Given the description of an element on the screen output the (x, y) to click on. 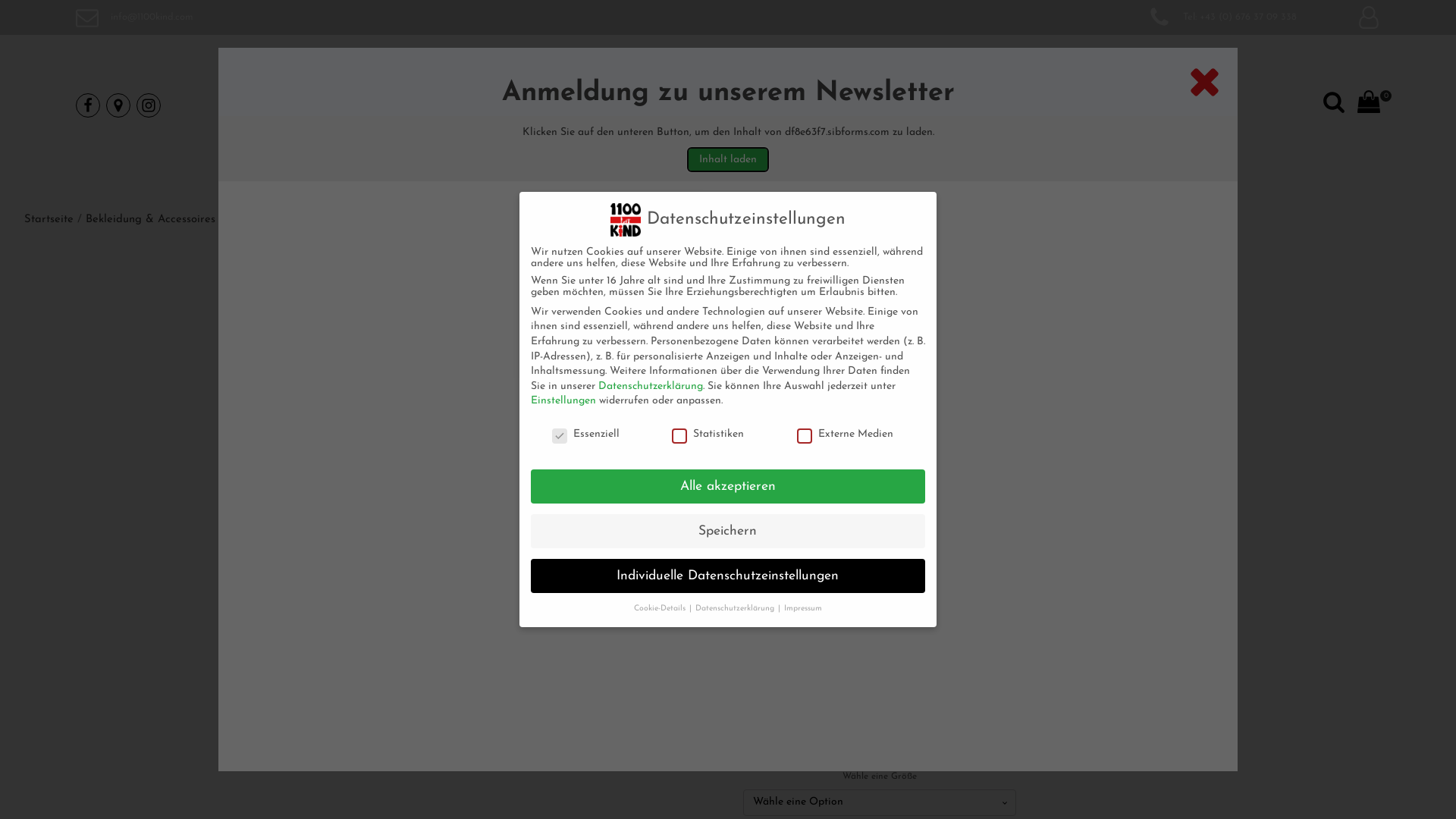
Home Element type: text (570, 189)
Tel: +43 (0) 676 37 09 338 Element type: text (1228, 17)
Cookie-Details Element type: text (660, 608)
Bekleidung & Accessoires Element type: text (865, 350)
Inhalt laden Element type: text (727, 159)
Kinderkleidung Element type: text (971, 350)
Impressum Element type: text (803, 608)
Bekleidung & Accessoires Element type: text (150, 219)
Kinderkleidung Element type: text (265, 219)
Speichern Element type: text (727, 531)
Einstellungen Element type: text (563, 400)
Marken Element type: text (761, 189)
Individuelle Datenschutzeinstellungen Element type: text (727, 575)
Startseite Element type: text (48, 219)
Alle akzeptieren Element type: text (727, 486)
Sale Element type: text (1025, 350)
0 Element type: text (1357, 105)
Kontakt Element type: text (878, 189)
info@1100kind.com Element type: text (151, 17)
Shop Element type: text (822, 189)
